Given the description of an element on the screen output the (x, y) to click on. 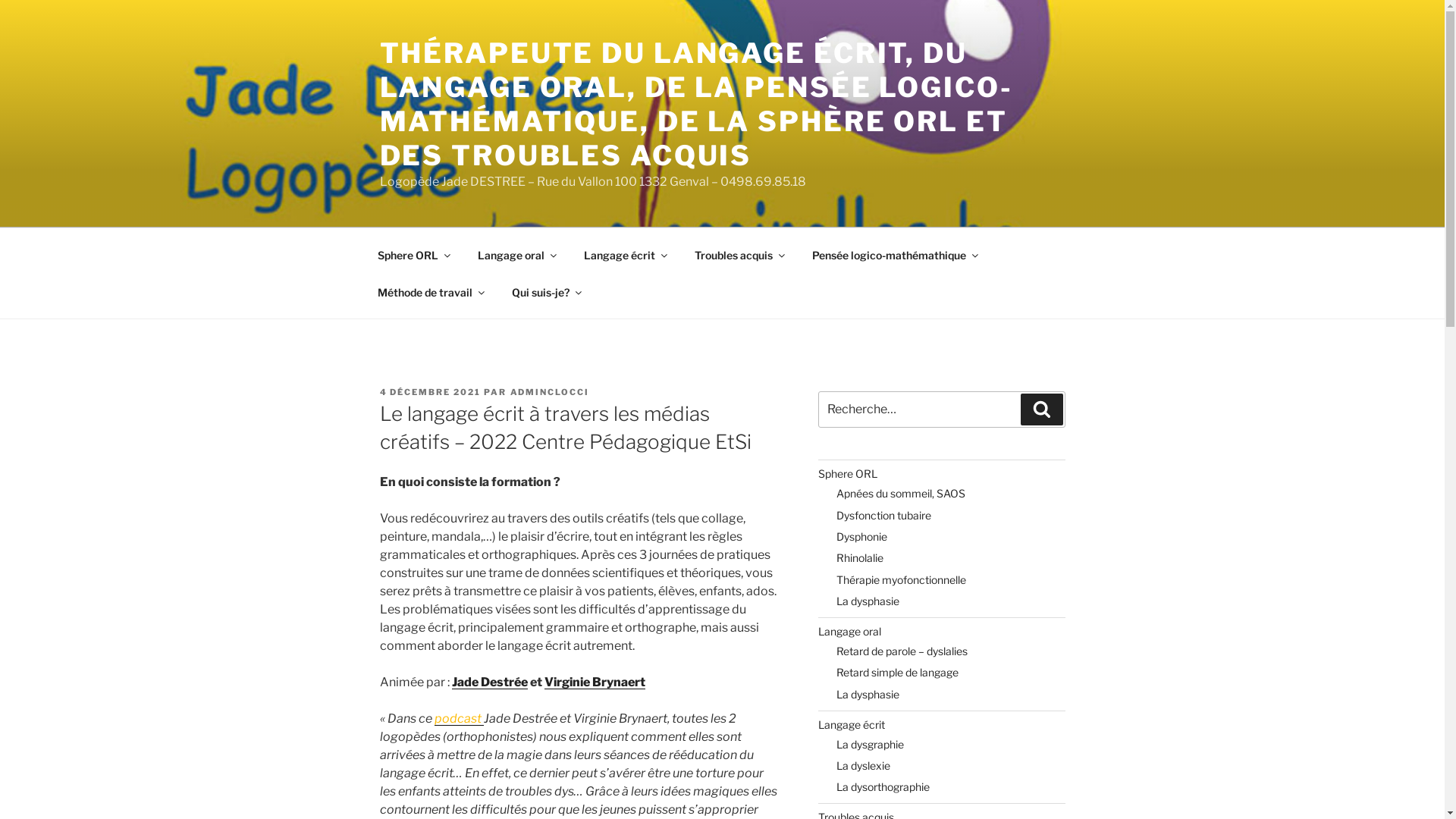
Qui suis-je? Element type: text (545, 291)
La dysorthographie Element type: text (882, 786)
Virginie Brynaert Element type: text (594, 681)
La dyslexie Element type: text (863, 765)
Rhinolalie Element type: text (859, 557)
La dysphasie Element type: text (867, 600)
La dysgraphie Element type: text (869, 743)
Troubles acquis Element type: text (738, 254)
Sphere ORL Element type: text (412, 254)
Dysfonction tubaire Element type: text (883, 514)
ADMINCLOCCI Element type: text (549, 391)
Sphere ORL Element type: text (847, 473)
podcast Element type: text (458, 718)
La dysphasie Element type: text (867, 693)
Langage oral Element type: text (849, 630)
Recherche Element type: text (1041, 409)
Dysphonie Element type: text (861, 536)
Retard simple de langage Element type: text (897, 671)
Langage oral Element type: text (515, 254)
